Given the description of an element on the screen output the (x, y) to click on. 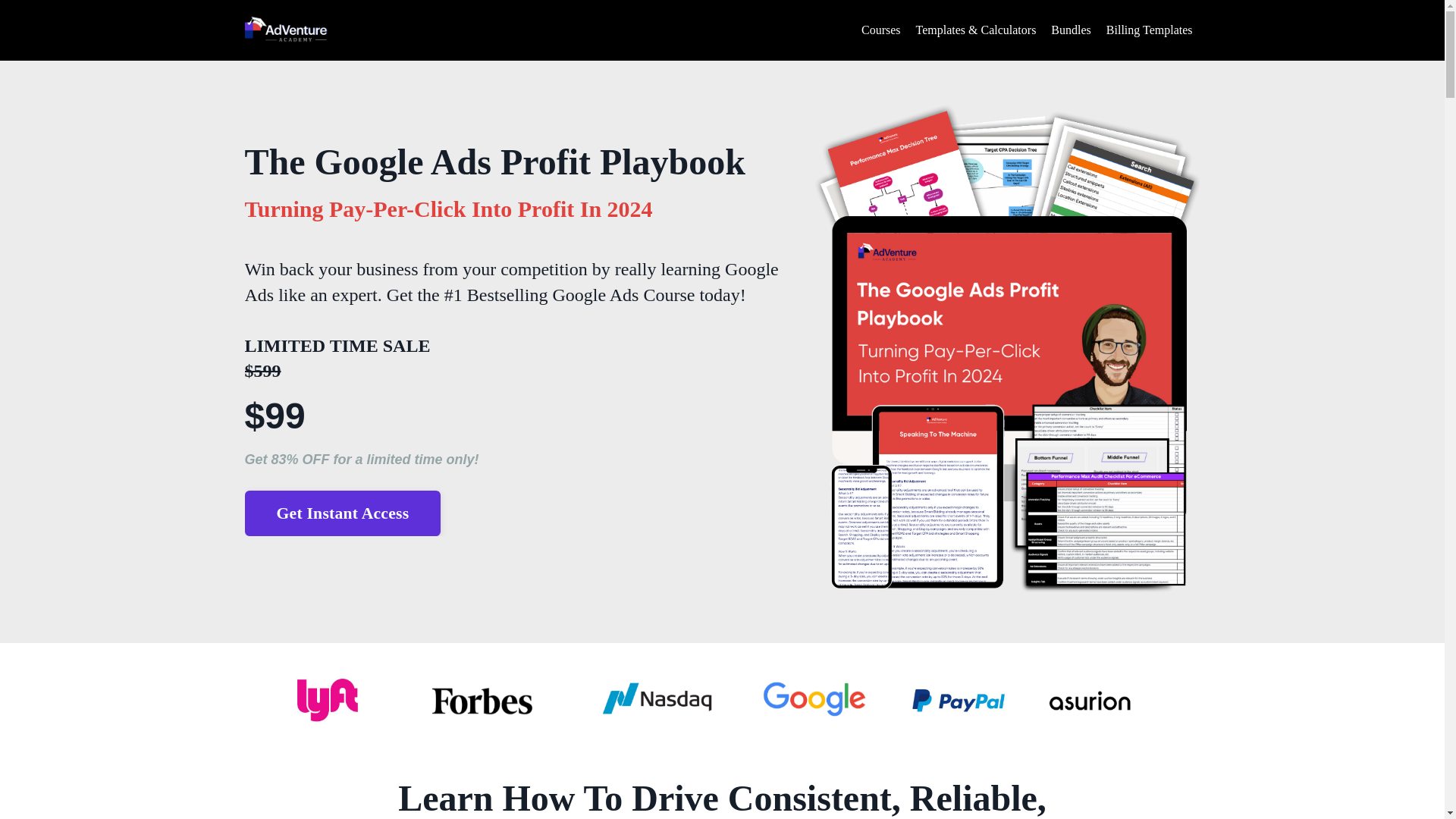
Bundles (1070, 30)
Get Instant Access (342, 512)
Courses (881, 30)
Billing Templates (1149, 30)
